Given the description of an element on the screen output the (x, y) to click on. 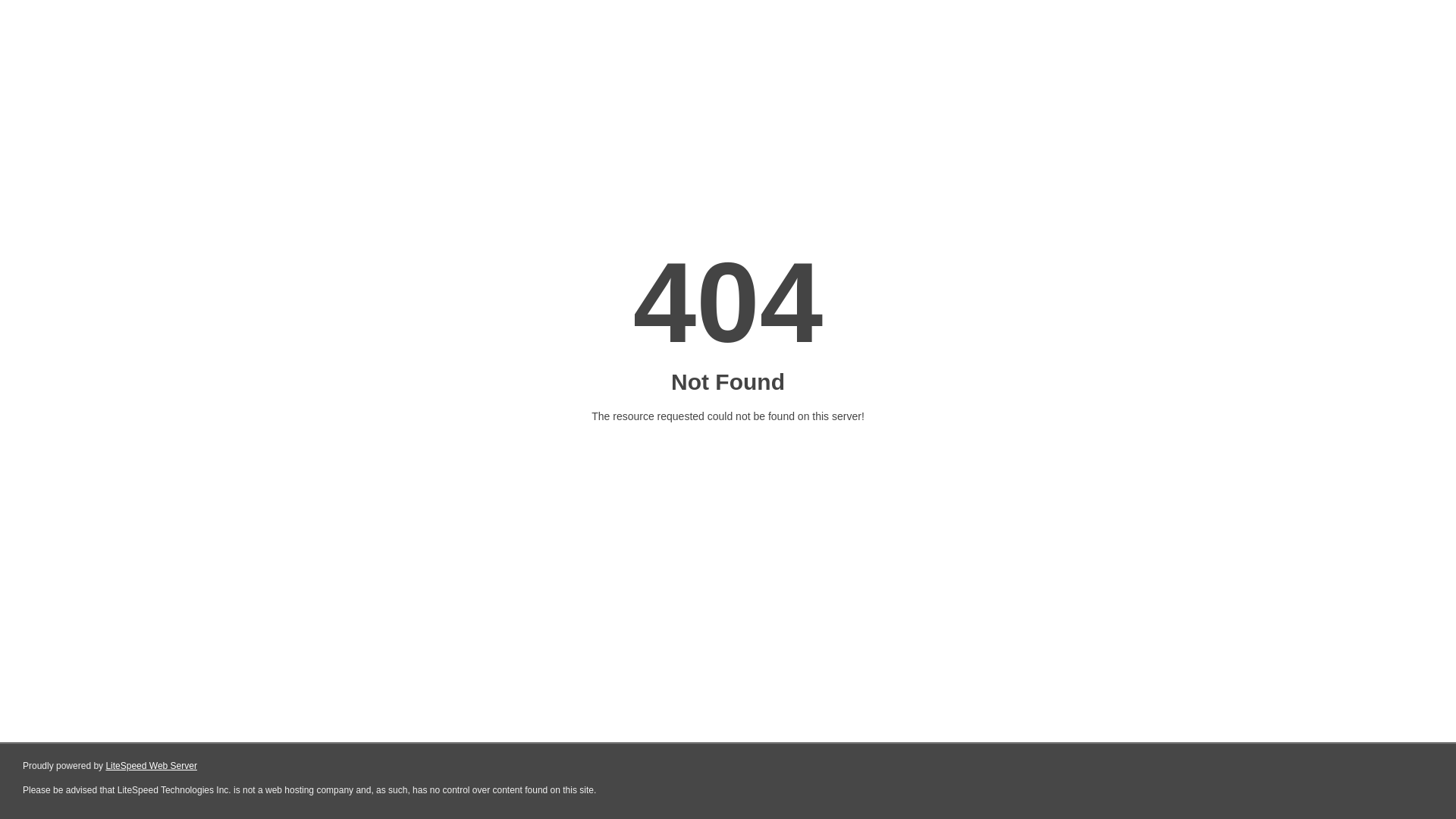
LiteSpeed Web Server Element type: text (151, 765)
